Given the description of an element on the screen output the (x, y) to click on. 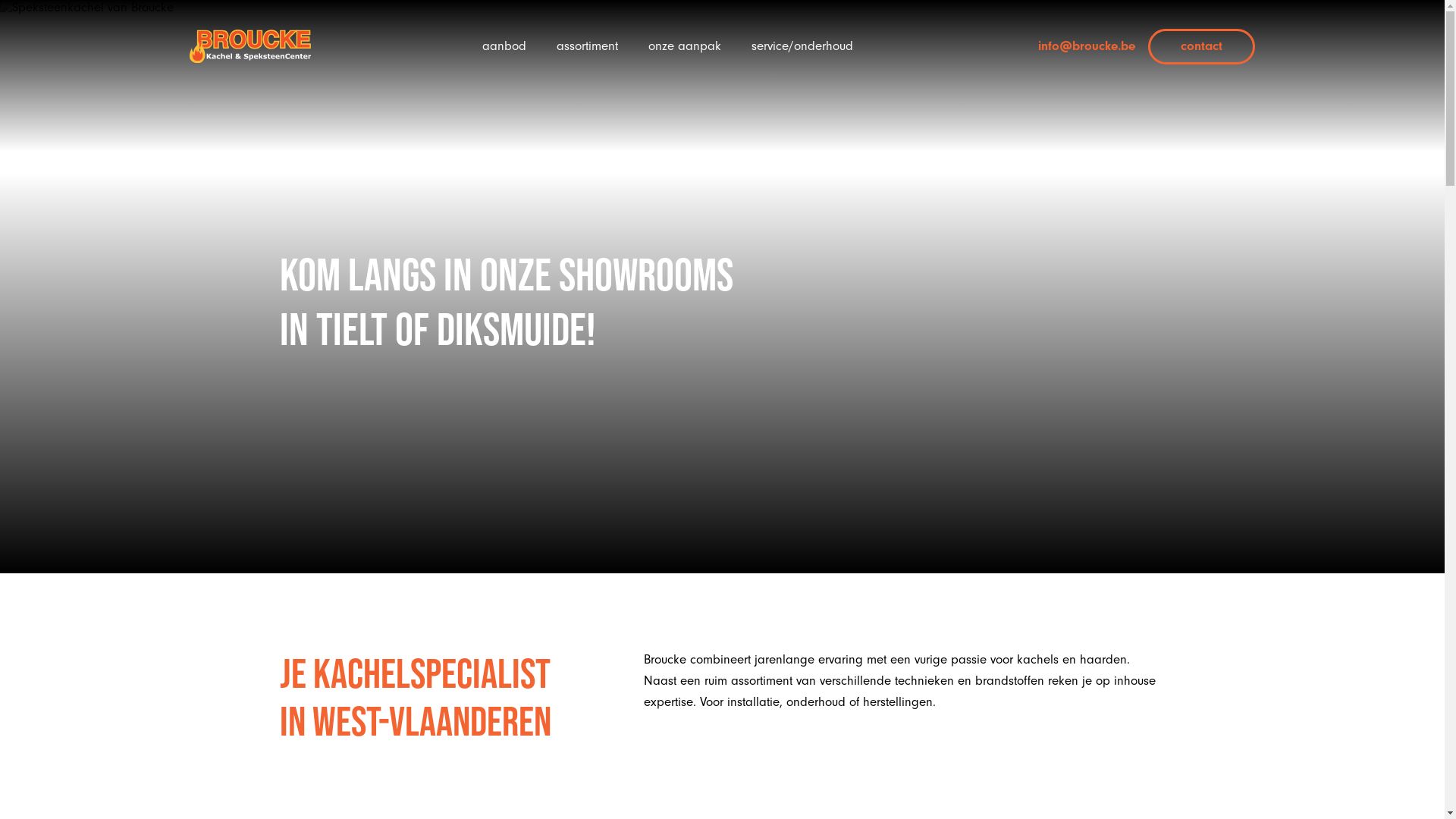
contact Element type: text (1201, 46)
service/onderhoud Element type: text (802, 46)
onze aanpak Element type: text (684, 46)
aanbod Element type: text (504, 46)
assortiment Element type: text (587, 46)
info@broucke.be Element type: text (1072, 45)
